Given the description of an element on the screen output the (x, y) to click on. 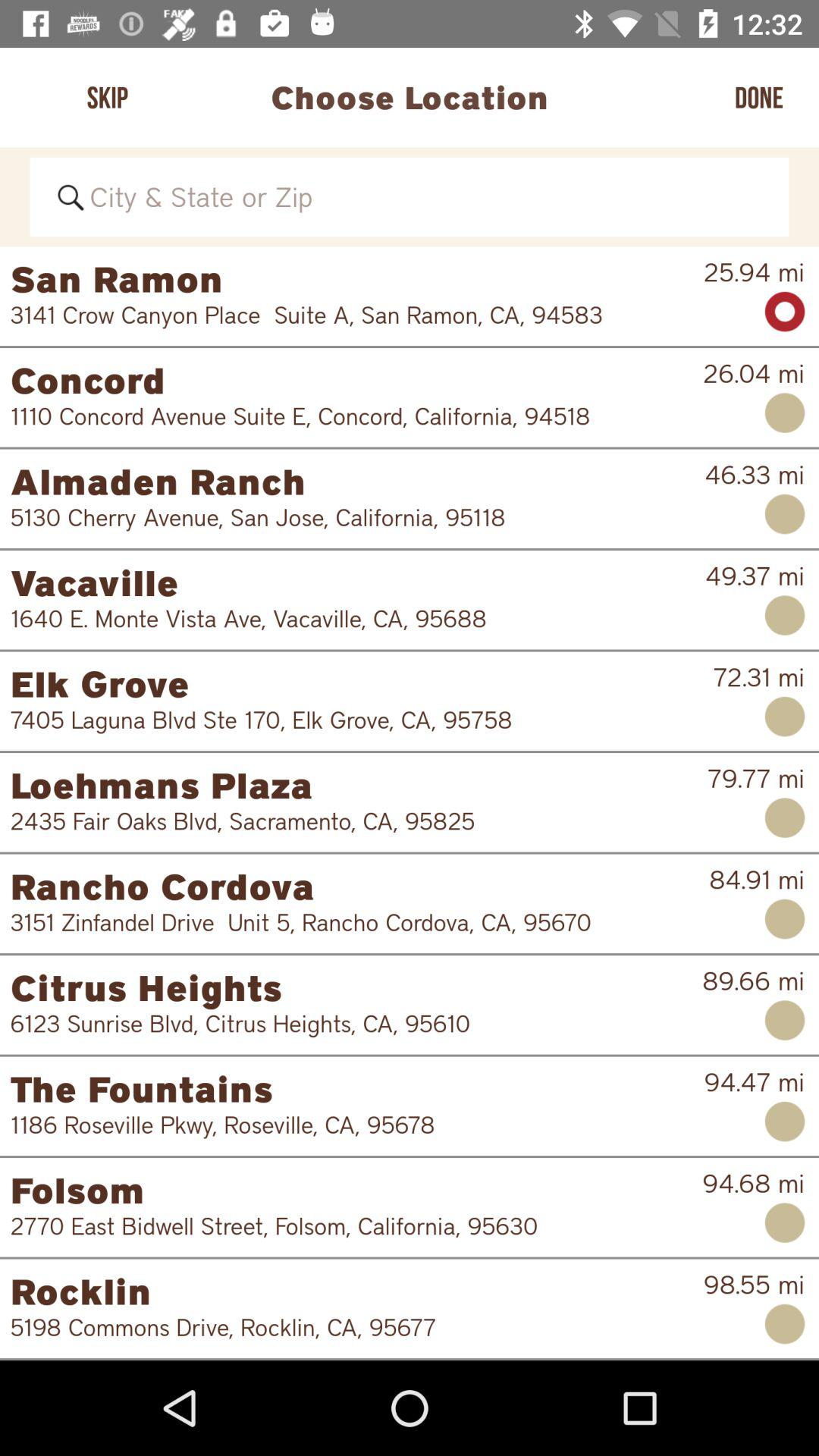
select the item below the loehmans plaza icon (348, 821)
